Given the description of an element on the screen output the (x, y) to click on. 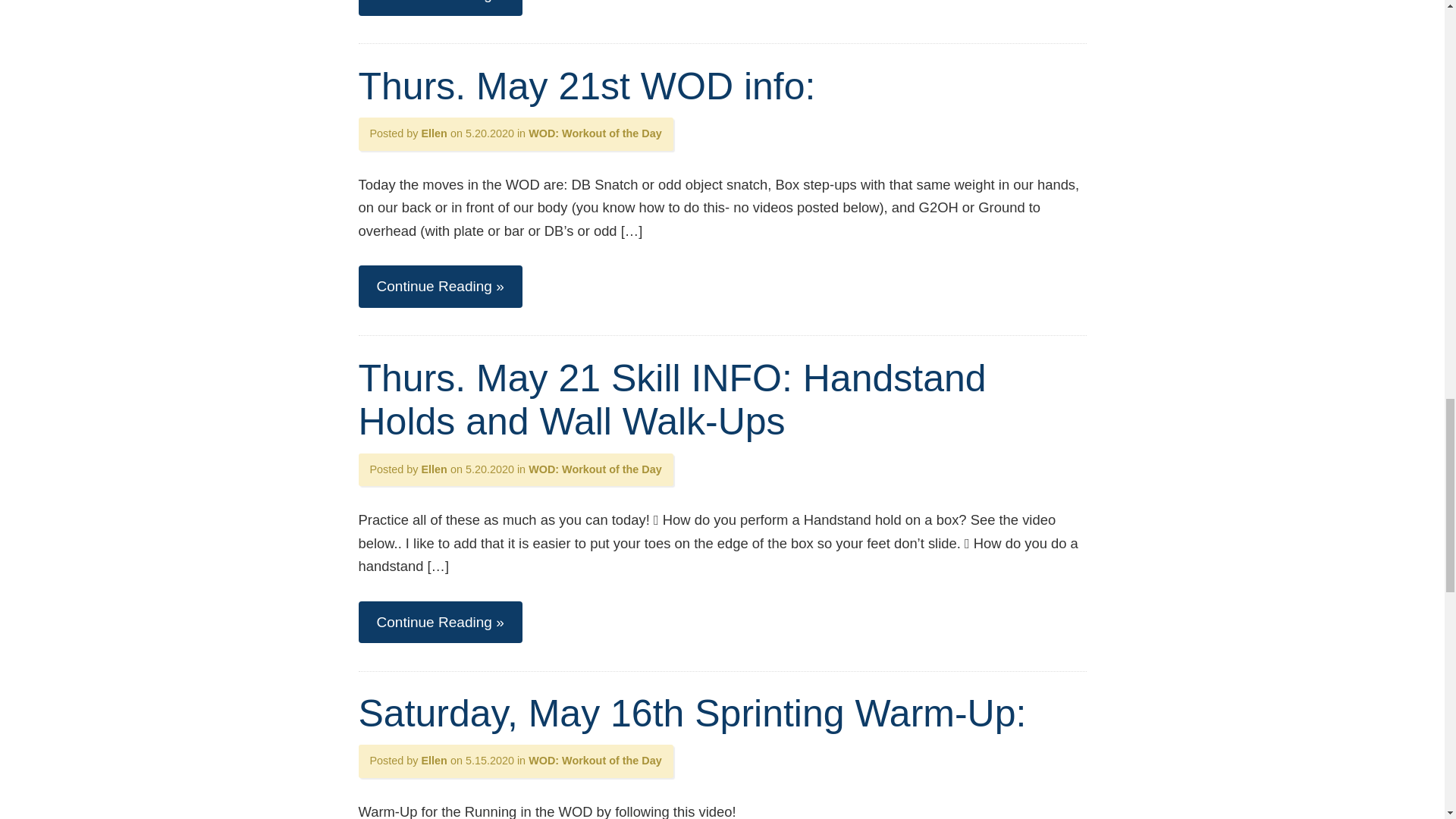
Thurs. May 21st WOD info: (586, 86)
Ellen (434, 468)
Posts by Ellen (434, 133)
Saturday, May 16th Sprinting Warm-Up: (692, 713)
Thurs. May 21 Skill INFO: Handstand Holds and Wall Walk-Ups (671, 399)
Ellen (434, 760)
WOD: Workout of the Day (595, 133)
Posts by Ellen (434, 760)
WOD: Workout of the Day (595, 468)
Posts by Ellen (434, 468)
